Given the description of an element on the screen output the (x, y) to click on. 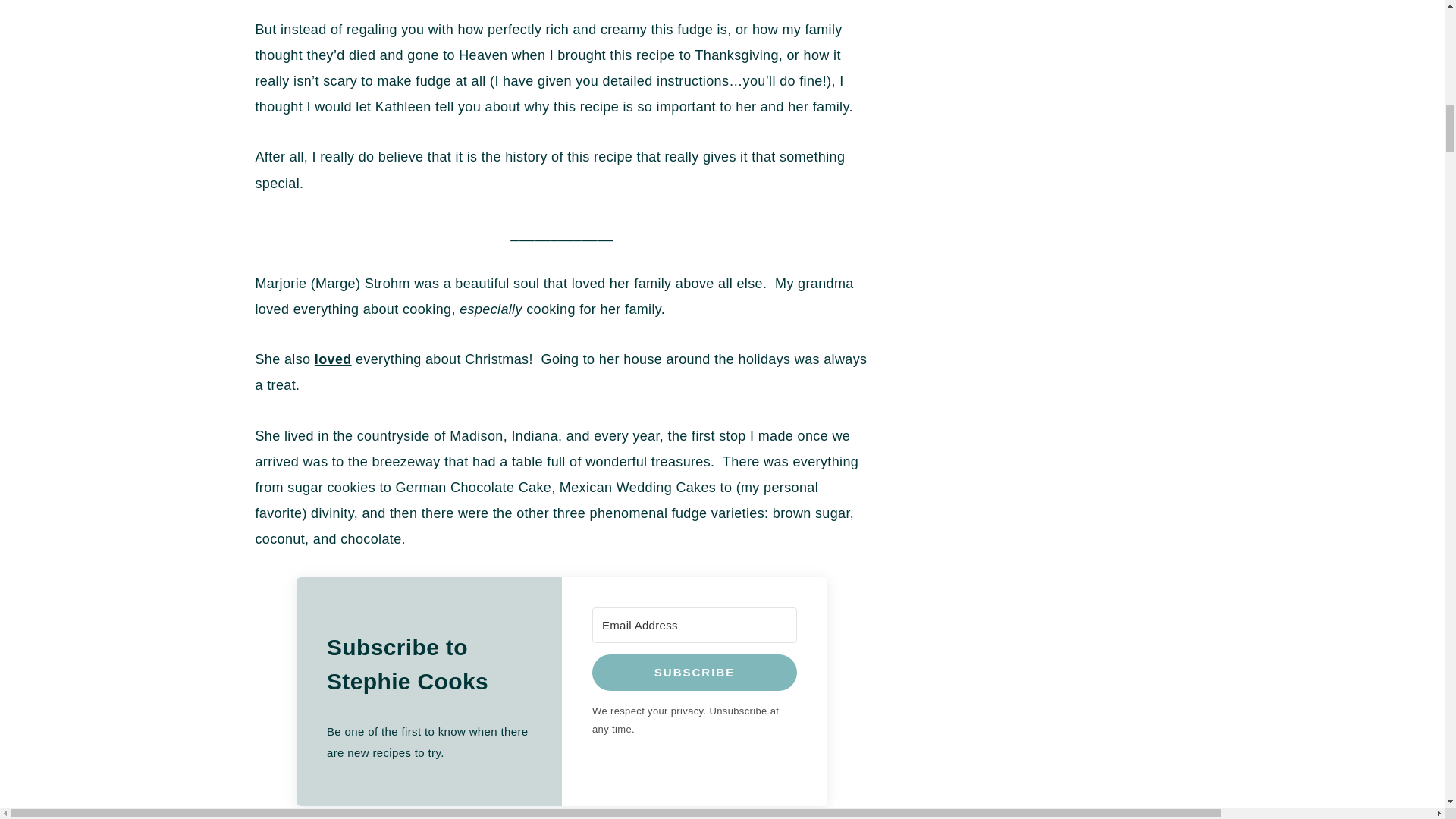
SUBSCRIBE (694, 672)
